Given the description of an element on the screen output the (x, y) to click on. 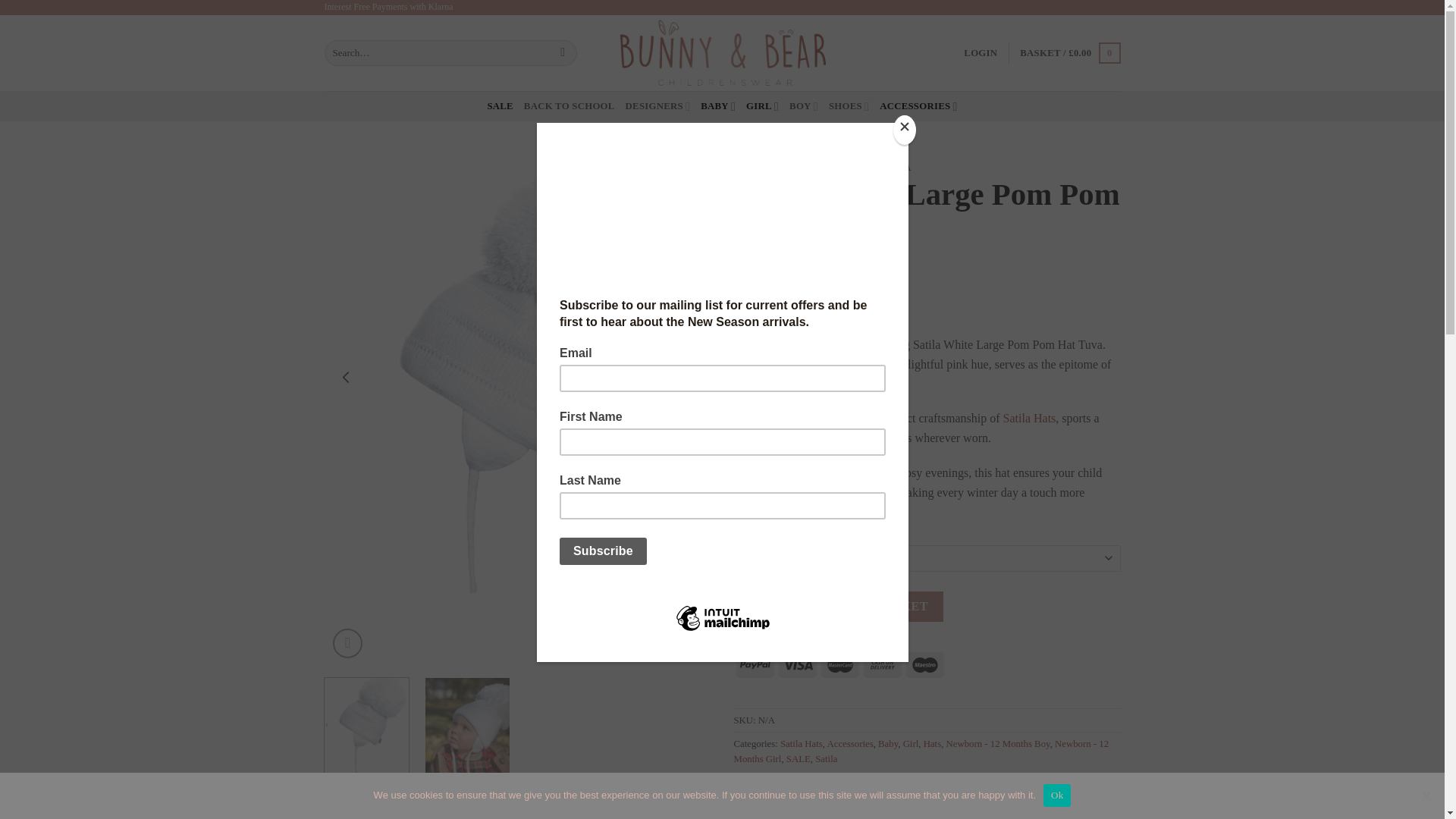
BACK TO SCHOOL (569, 105)
Search (562, 53)
Basket (1069, 52)
DESIGNERS (658, 105)
No (1425, 795)
Zoom (347, 643)
BABY (717, 105)
LOGIN (980, 52)
